Given the description of an element on the screen output the (x, y) to click on. 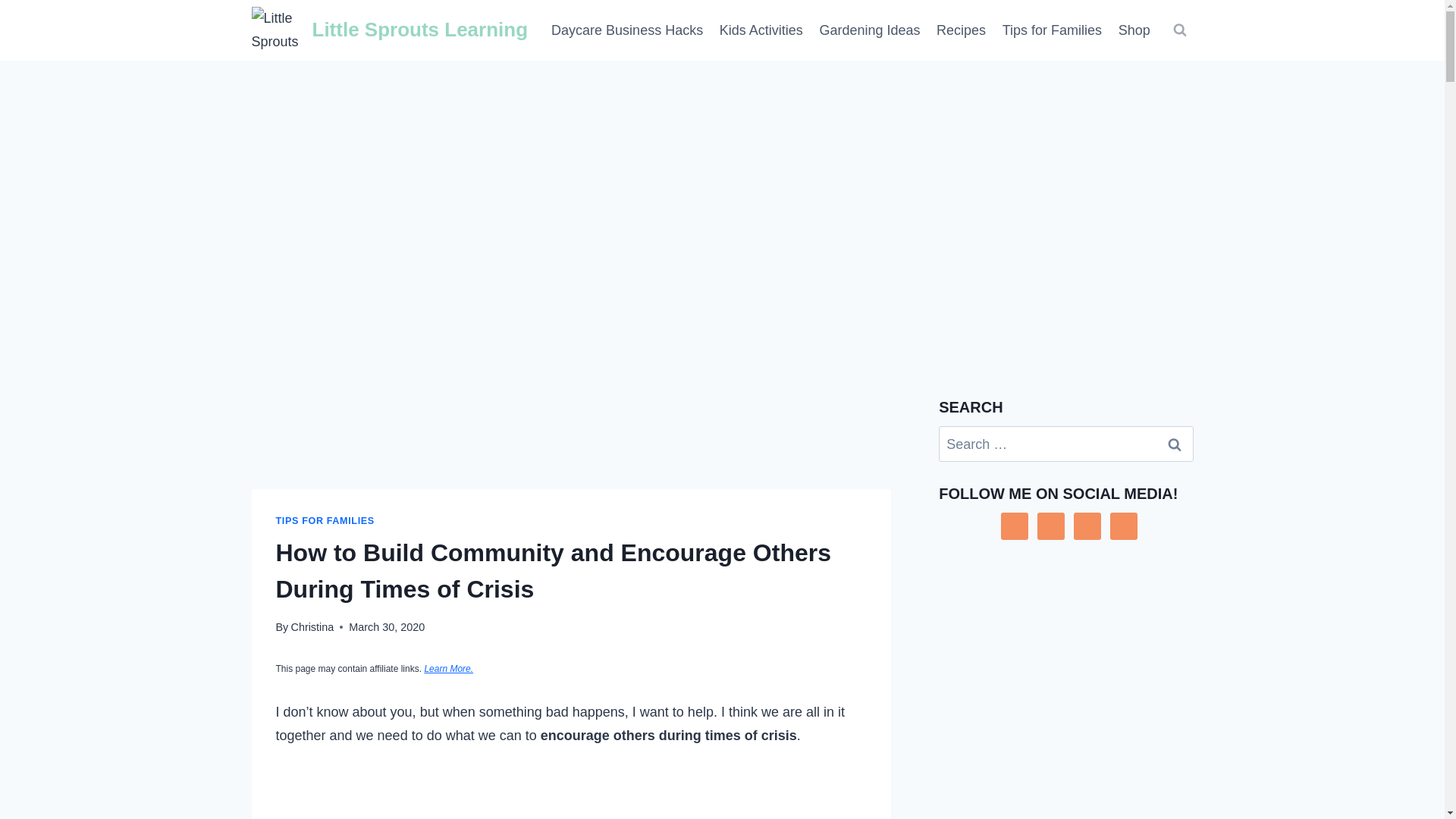
recipes, cooking with kids (961, 29)
Learn More. (448, 668)
Daycare Business Hacks (627, 29)
Tips for Families (1051, 29)
Kids Activities (760, 29)
Search (1174, 443)
Little Sprouts Learning (389, 30)
Gardening Ideas (869, 29)
Early Childhood Activities (760, 29)
Shop (1133, 29)
Recipes (961, 29)
Search (1174, 443)
Christina (311, 626)
tips for families, child development (1051, 29)
